Given the description of an element on the screen output the (x, y) to click on. 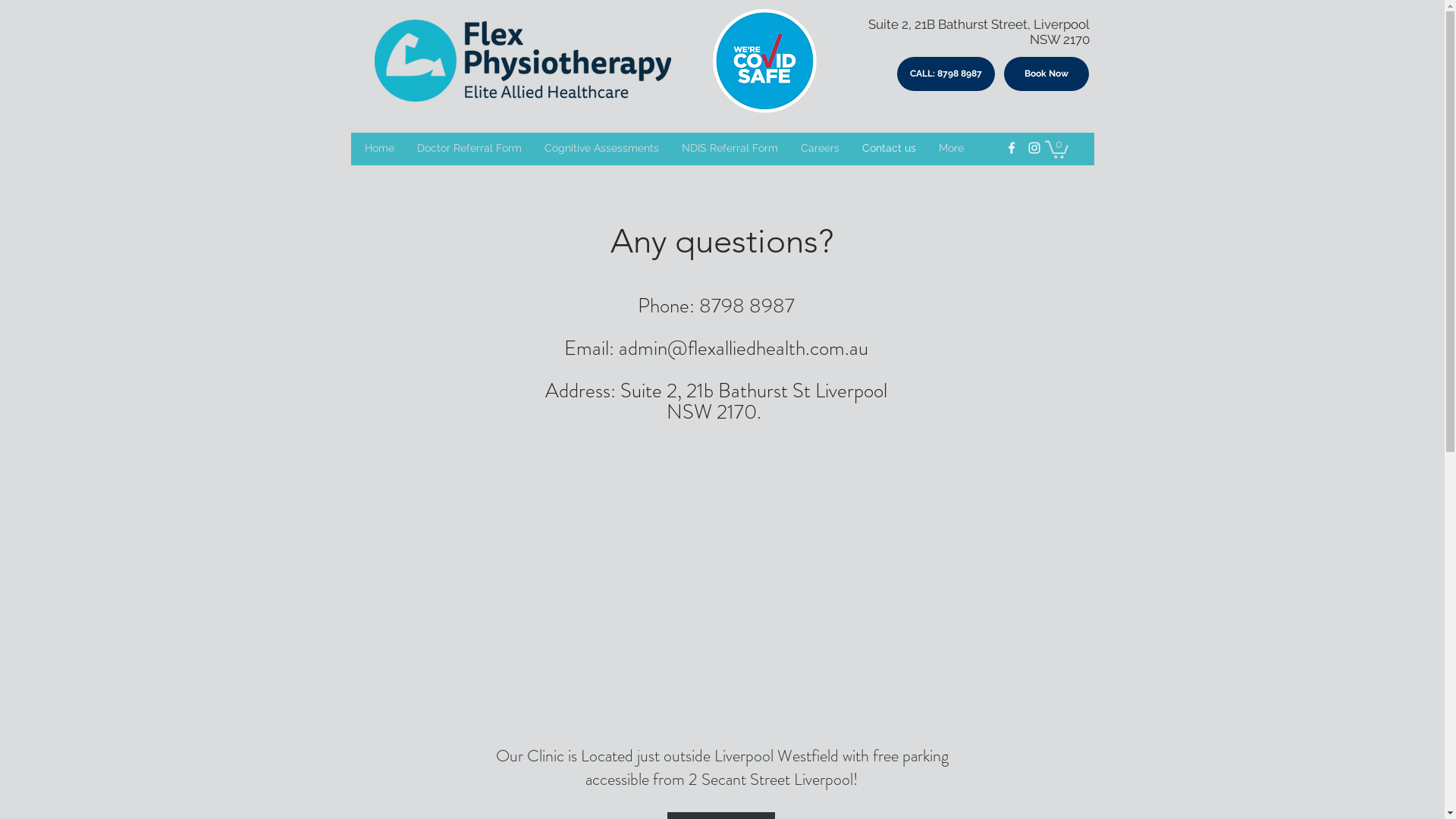
0 Element type: text (1056, 148)
Google Maps Element type: hover (715, 591)
Cognitive Assessments Element type: text (600, 147)
CALL: 8798 8987 Element type: text (945, 73)
Careers Element type: text (819, 147)
Doctor Referral Form Element type: text (468, 147)
Home Element type: text (379, 147)
Contact us Element type: text (888, 147)
covid-safe-logo.png Element type: hover (764, 60)
admin@flexalliedhealth.com.au Element type: text (743, 347)
Book Now Element type: text (1046, 73)
NDIS Referral Form Element type: text (729, 147)
